Given the description of an element on the screen output the (x, y) to click on. 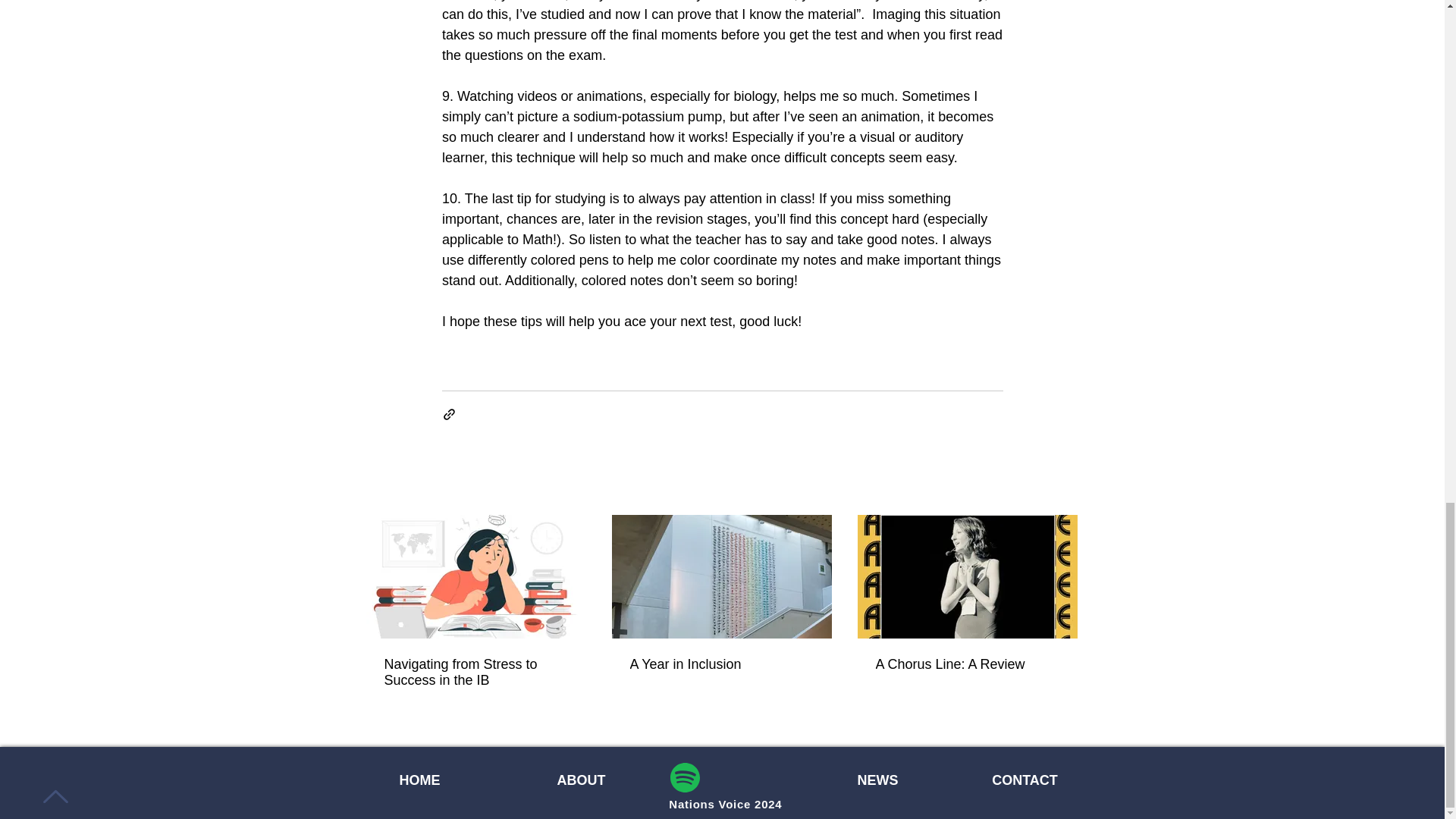
A Year in Inclusion (720, 664)
A Chorus Line: A Review (966, 664)
ABOUT (580, 779)
Navigating from Stress to Success in the IB (475, 672)
HOME (419, 779)
